Given the description of an element on the screen output the (x, y) to click on. 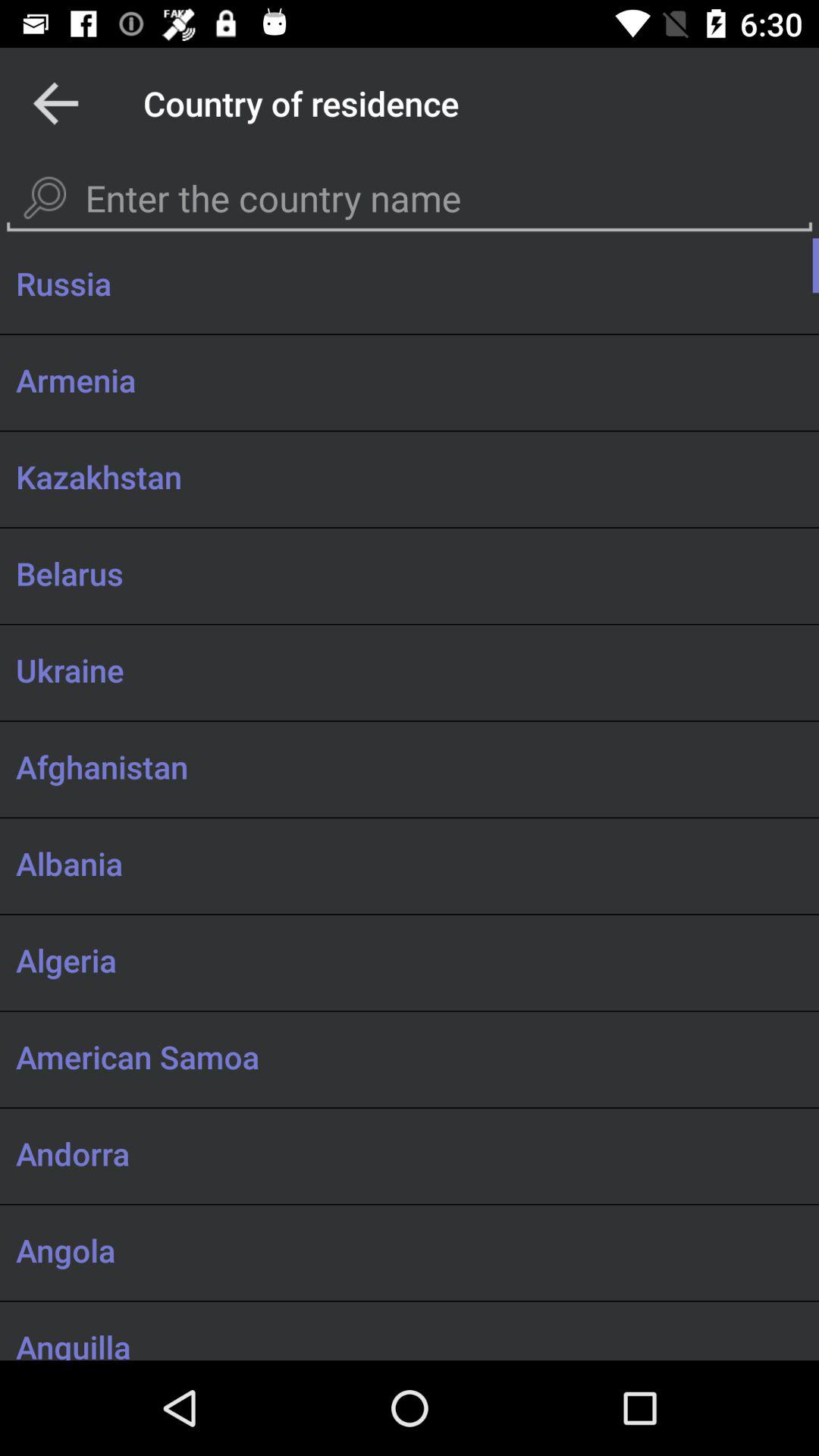
go back (55, 103)
